Given the description of an element on the screen output the (x, y) to click on. 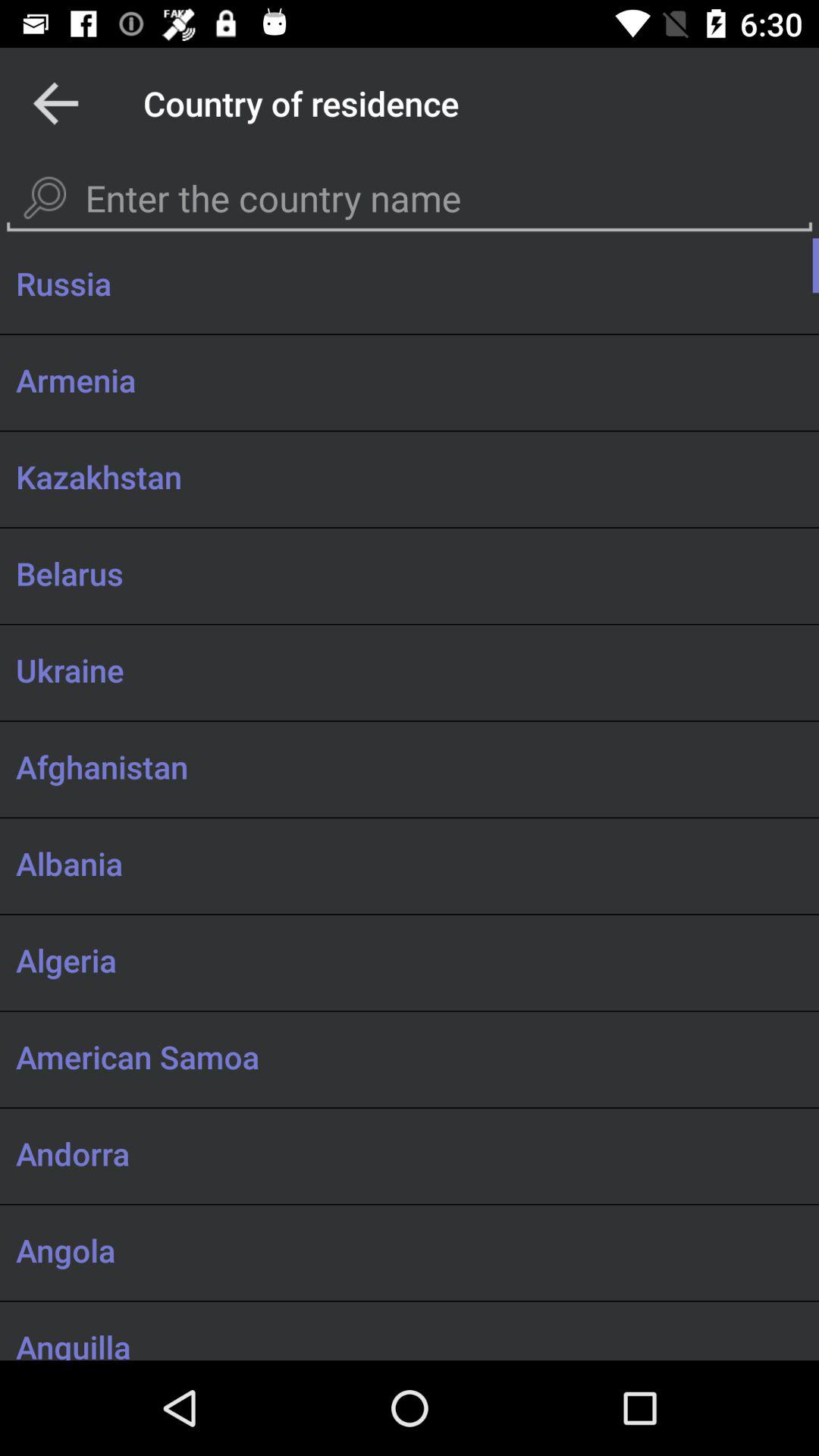
go back (55, 103)
